Given the description of an element on the screen output the (x, y) to click on. 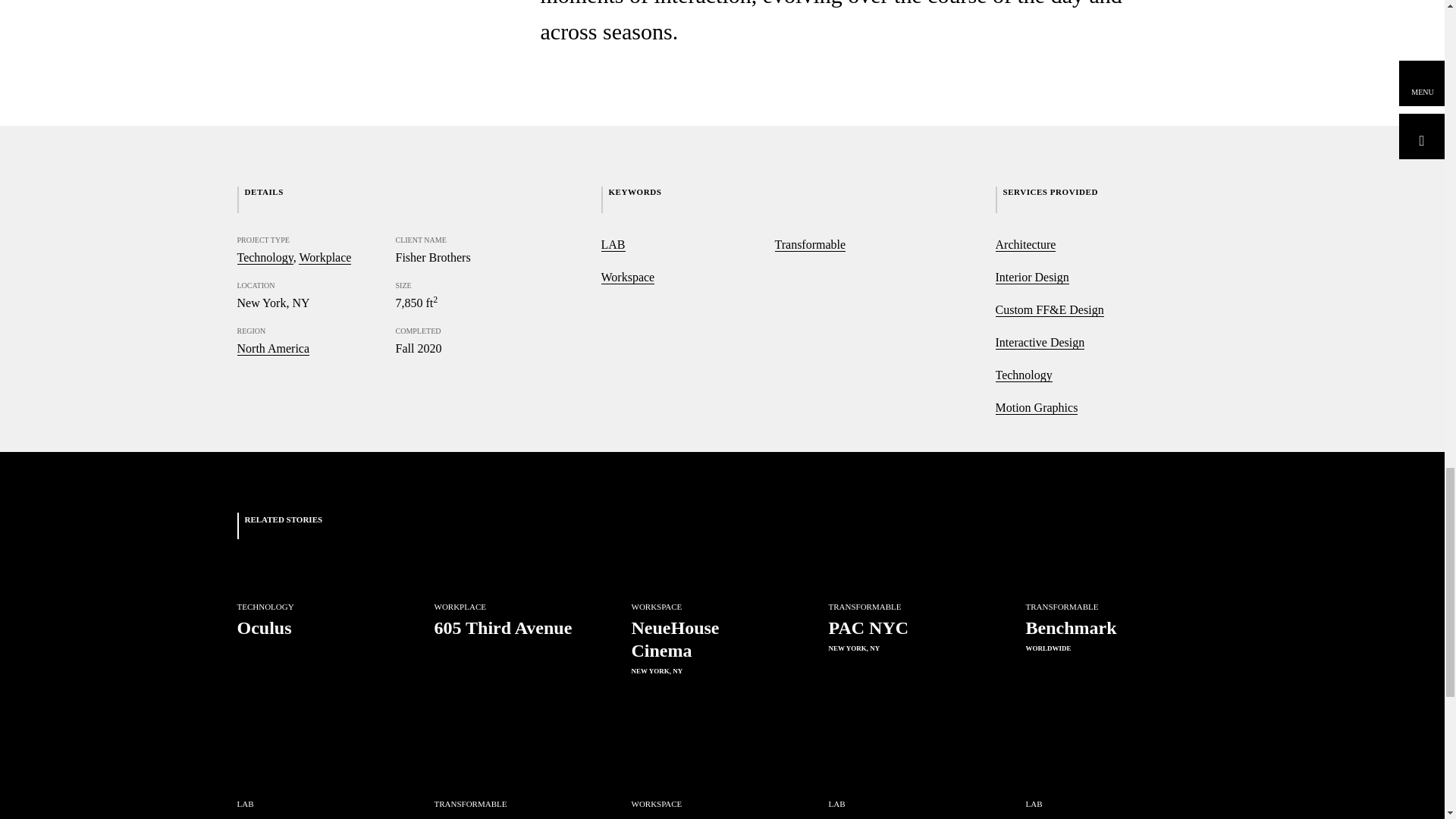
Interior Design (1031, 277)
LAB (693, 789)
Interactive Design (611, 244)
Architecture (495, 789)
Technology (298, 660)
Technology (1039, 342)
